Given the description of an element on the screen output the (x, y) to click on. 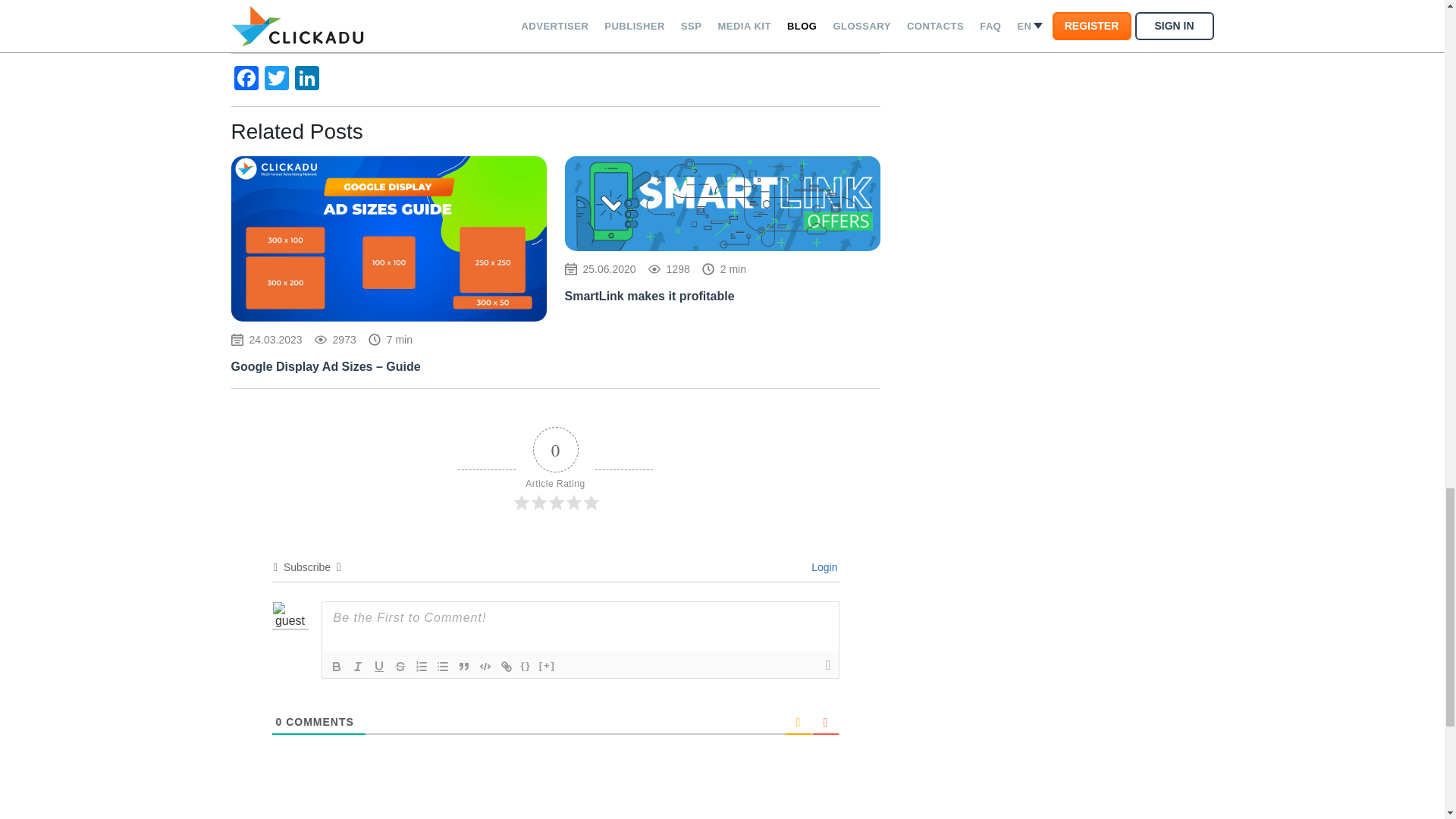
Bold (336, 666)
Twitter (275, 80)
Ordered List (421, 666)
Source Code (525, 666)
Underline (379, 666)
Blockquote (463, 666)
Unordered List (442, 666)
Code Block (485, 666)
Facebook (245, 80)
Spoiler (547, 666)
LinkedIn (306, 80)
Link (506, 666)
Italic (357, 666)
Strike (400, 666)
